Given the description of an element on the screen output the (x, y) to click on. 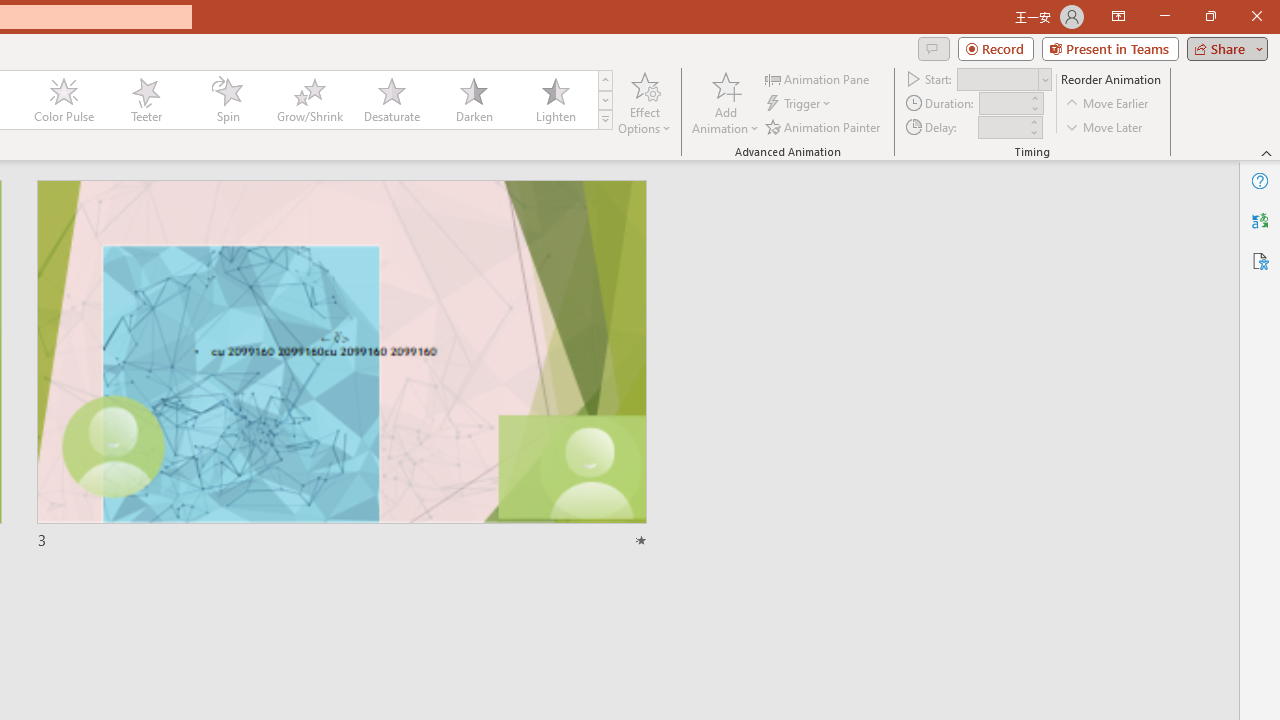
Grow/Shrink (309, 100)
Row Down (605, 100)
Move Later (1105, 126)
Row up (605, 79)
